Given the description of an element on the screen output the (x, y) to click on. 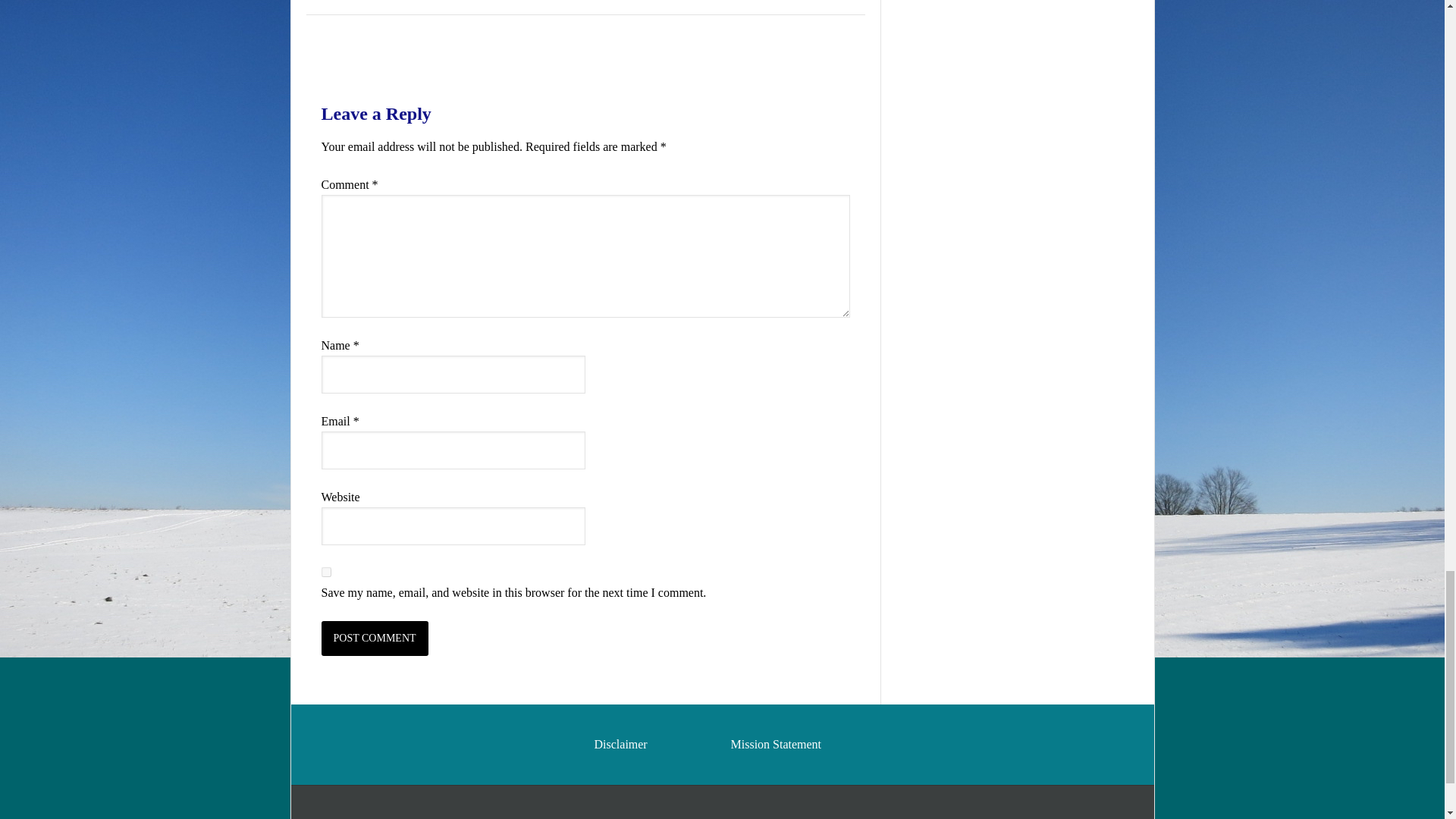
Post Comment (374, 638)
yes (326, 572)
